Given the description of an element on the screen output the (x, y) to click on. 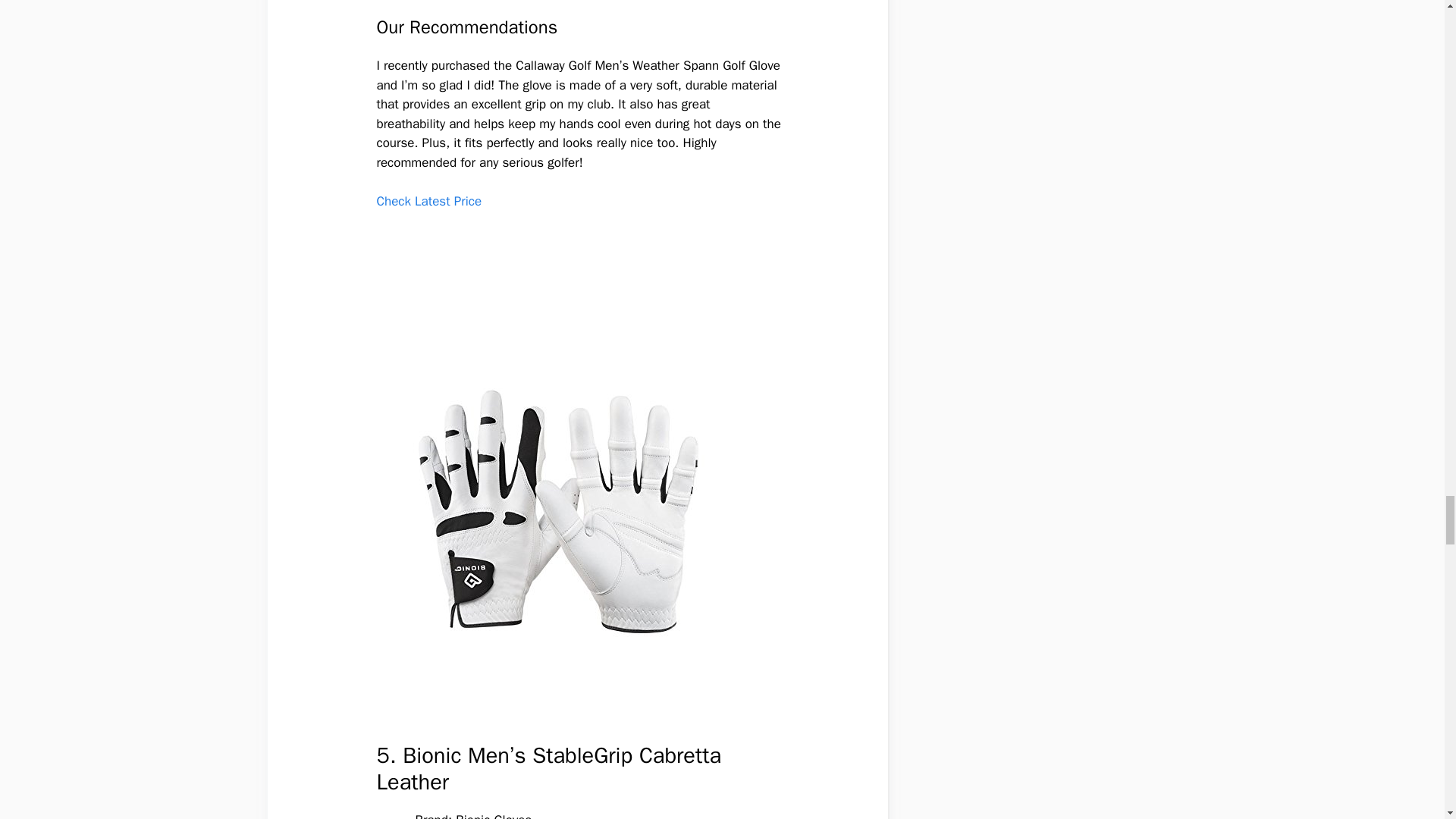
Check Latest Price (428, 201)
